Given the description of an element on the screen output the (x, y) to click on. 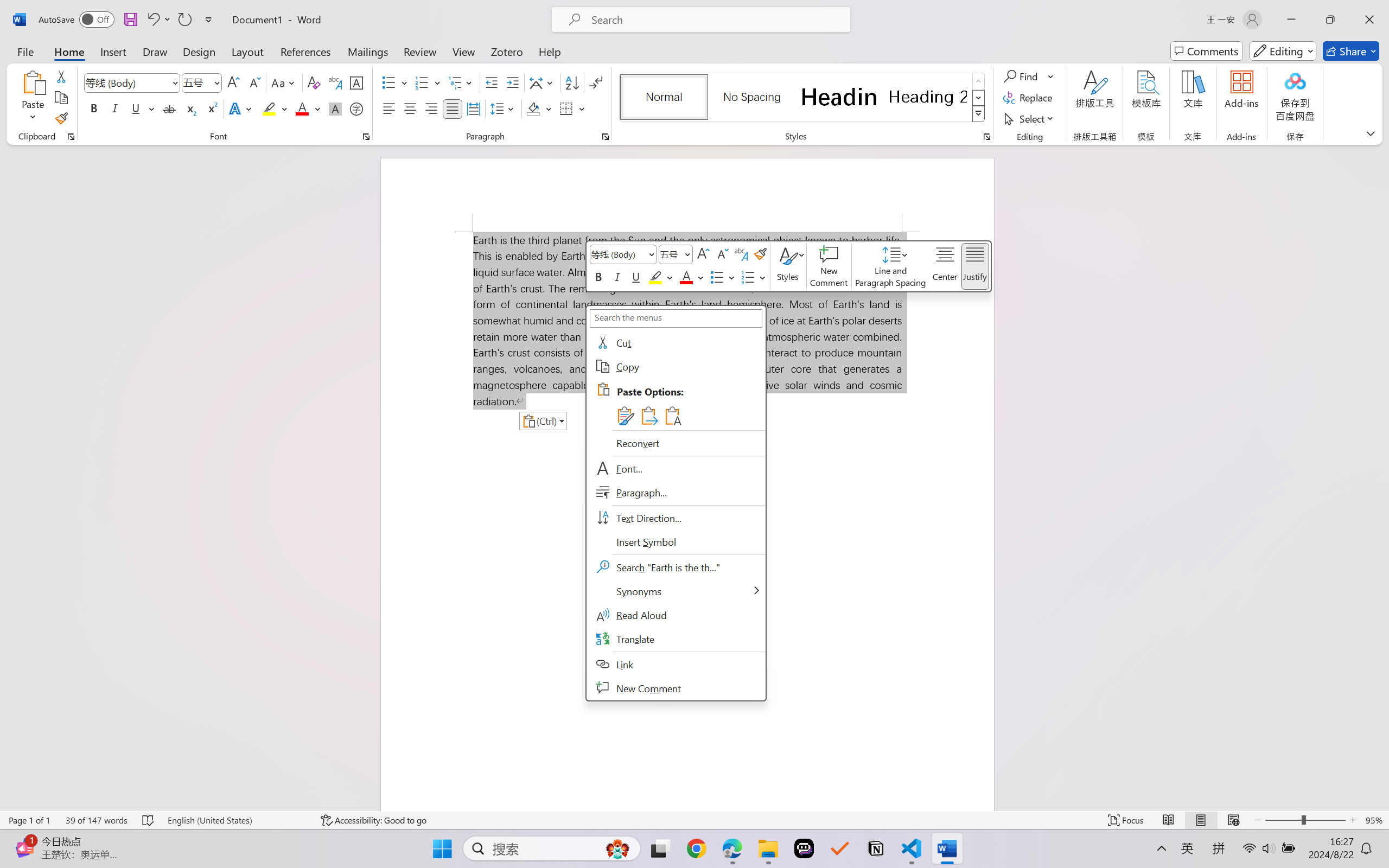
Align Right (431, 108)
Strikethrough (169, 108)
Styles... (986, 136)
Center (409, 108)
Link (675, 664)
Asian Layout (542, 82)
Select (1030, 118)
Bold (94, 108)
